Given the description of an element on the screen output the (x, y) to click on. 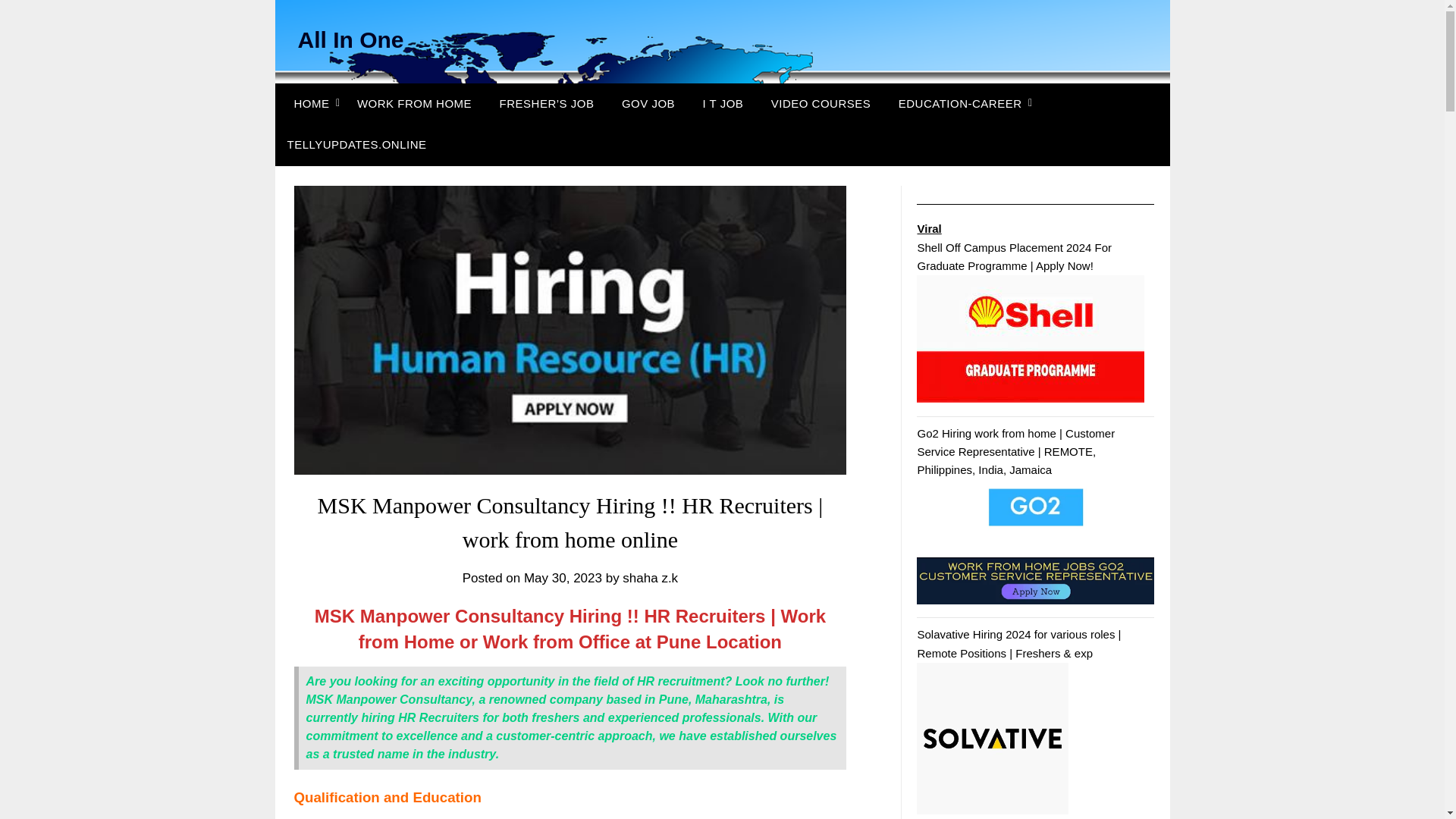
May 30, 2023 (563, 577)
TELLYUPDATES.ONLINE (356, 144)
HOME (307, 103)
WORK FROM HOME (414, 103)
EDUCATION-CAREER (959, 103)
shaha z.k (650, 577)
I T JOB (722, 103)
VIDEO COURSES (820, 103)
GOV JOB (648, 103)
Viral (928, 228)
